Given the description of an element on the screen output the (x, y) to click on. 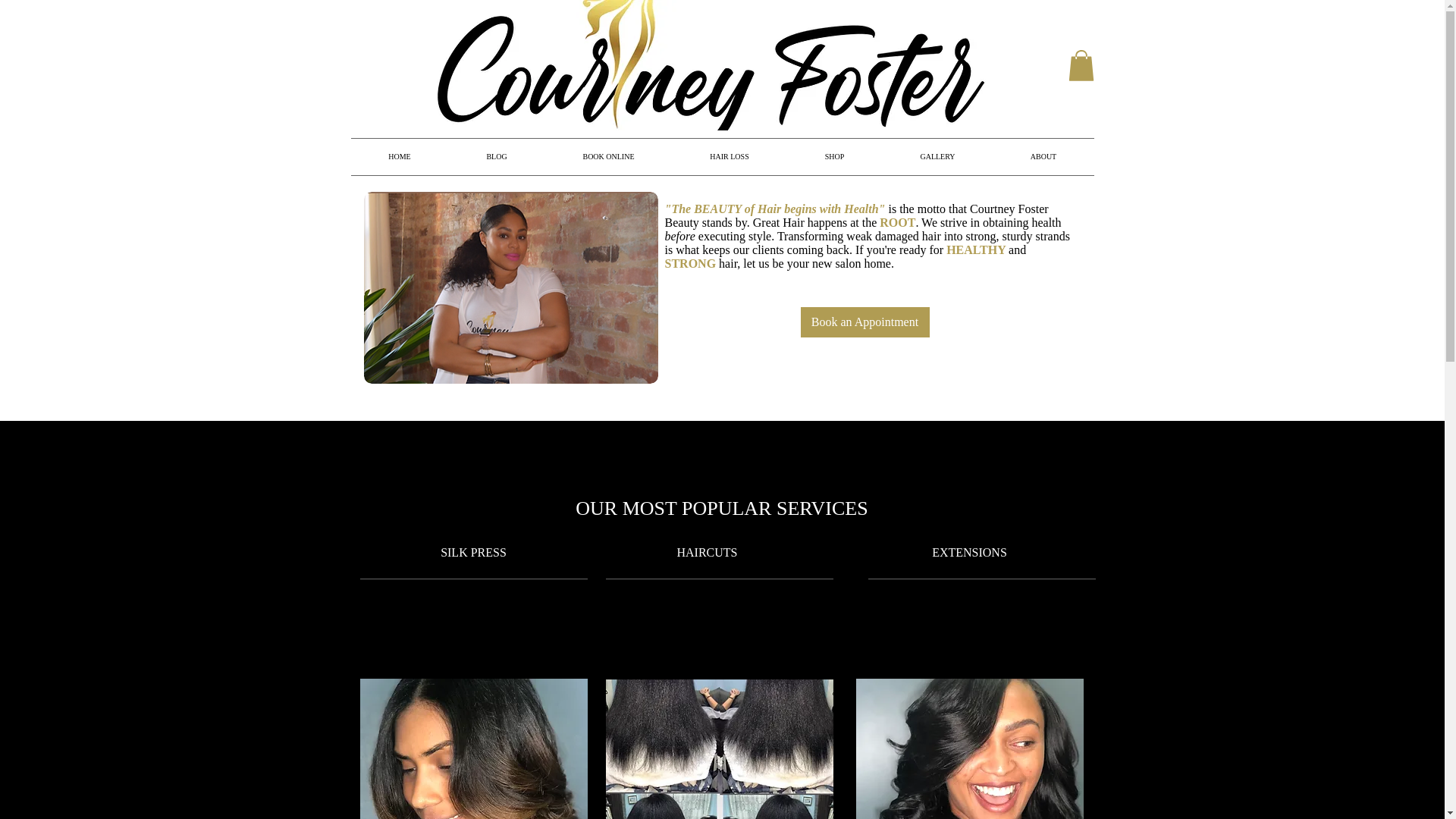
HAIR LOSS (728, 156)
BOOK ONLINE (607, 156)
BLOG (496, 156)
ABOUT (1043, 156)
GALLERY (937, 156)
HOME (399, 156)
SHOP (834, 156)
Book an Appointment (865, 322)
